Given the description of an element on the screen output the (x, y) to click on. 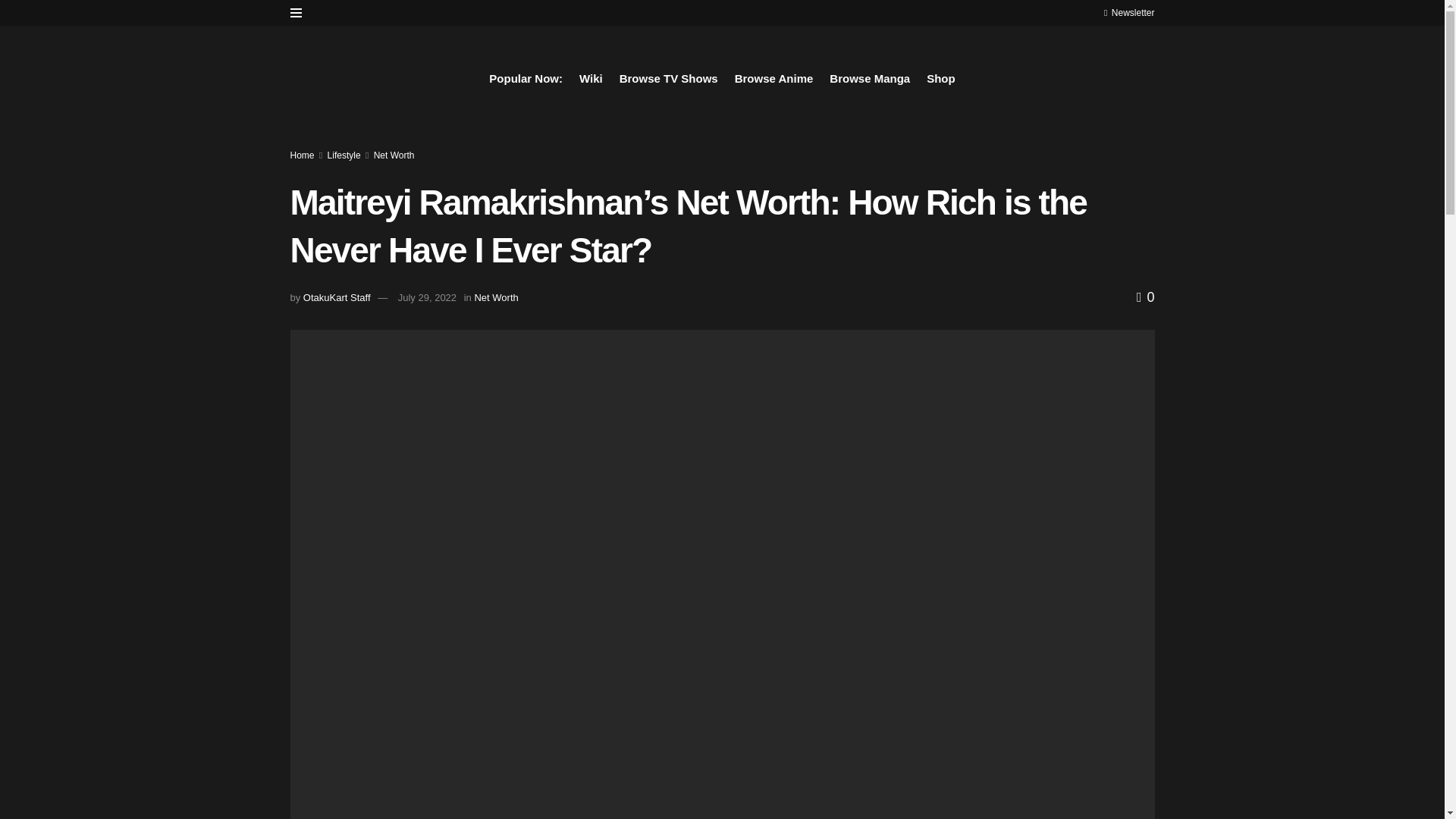
Net Worth (496, 297)
July 29, 2022 (427, 297)
Lifestyle (344, 154)
Browse Anime (774, 78)
Browse Manga (869, 78)
Popular Now: (525, 78)
OtakuKart Staff (336, 297)
Home (301, 154)
Newsletter (1128, 12)
Browse TV Shows (668, 78)
